Given the description of an element on the screen output the (x, y) to click on. 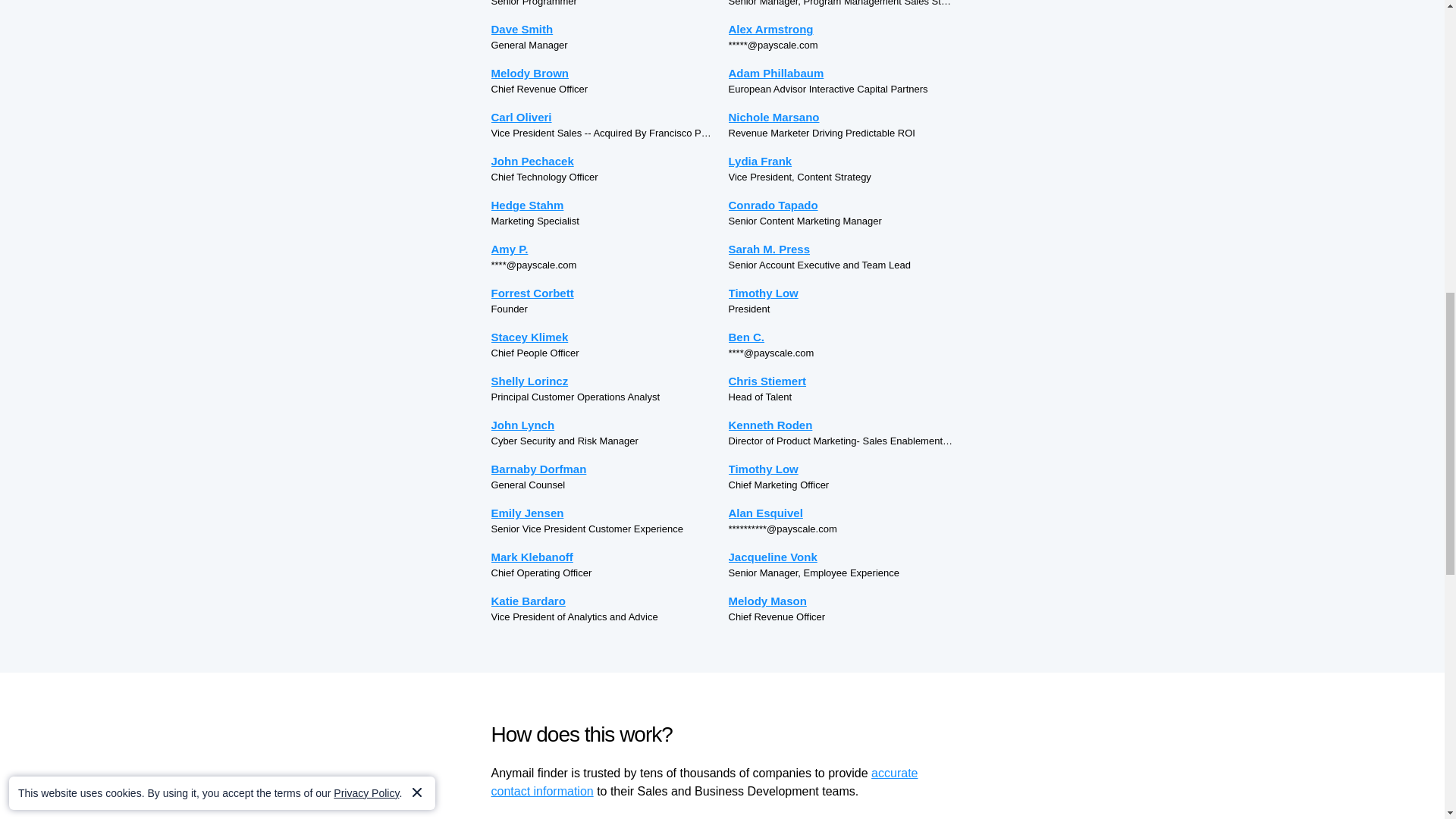
Adam Phillabaum (840, 72)
Melody Mason (840, 600)
accurate contact information (705, 781)
John Pechacek (604, 160)
Melody Brown (604, 72)
Nichole Marsano (840, 117)
Sarah M. Press (840, 248)
Stacey Klimek (604, 336)
Shelly Lorincz (604, 380)
Timothy Low (840, 293)
